Given the description of an element on the screen output the (x, y) to click on. 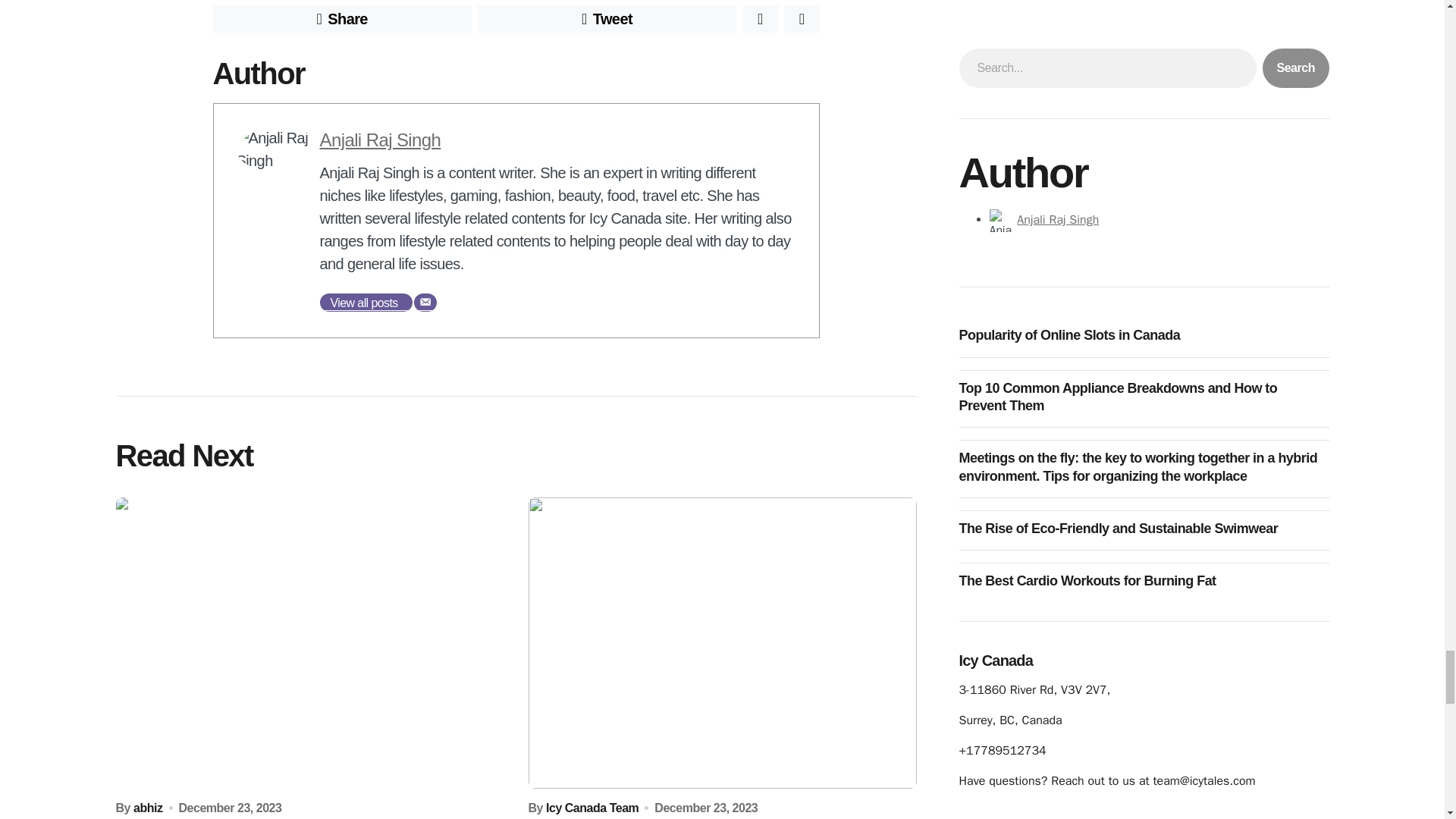
View all posts (366, 302)
Anjali Raj Singh (380, 139)
